Given the description of an element on the screen output the (x, y) to click on. 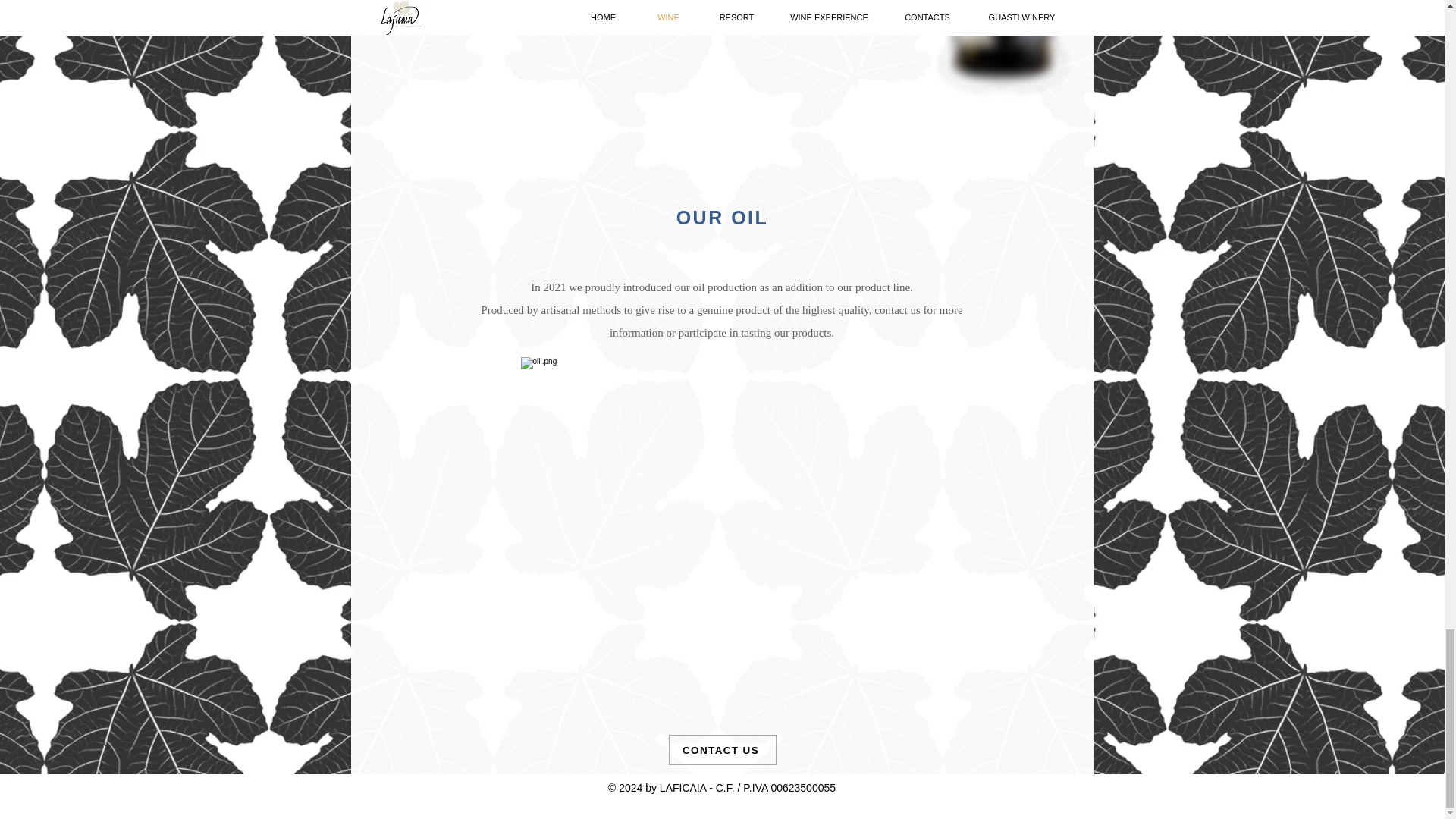
BUY HERE (853, 8)
CONTACT US (722, 749)
